Given the description of an element on the screen output the (x, y) to click on. 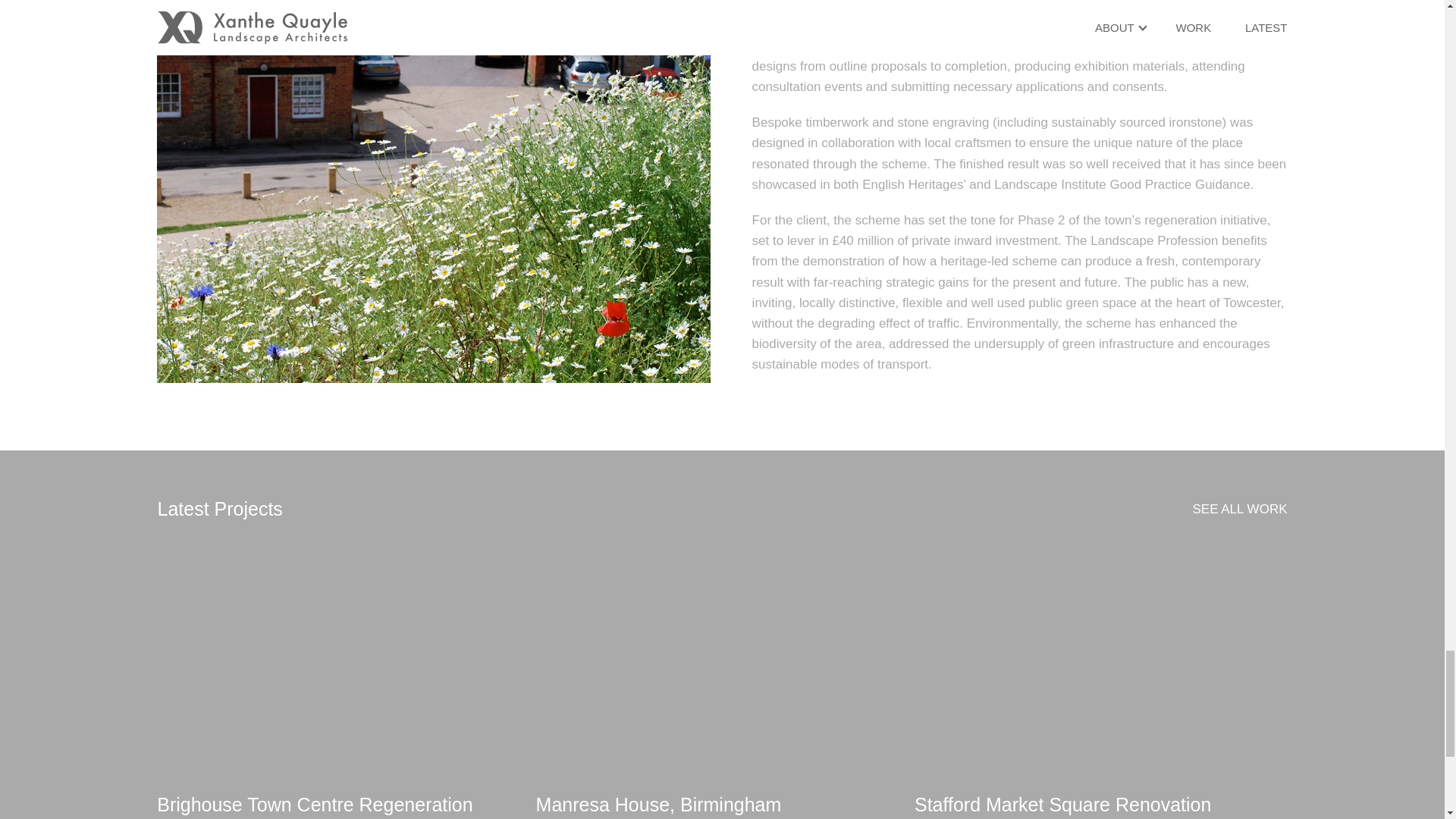
Brighouse Town Centre Regeneration (342, 804)
Stafford Market Square Renovation (1099, 804)
SEE ALL WORK (1239, 508)
Manresa House, Birmingham (721, 804)
